Given the description of an element on the screen output the (x, y) to click on. 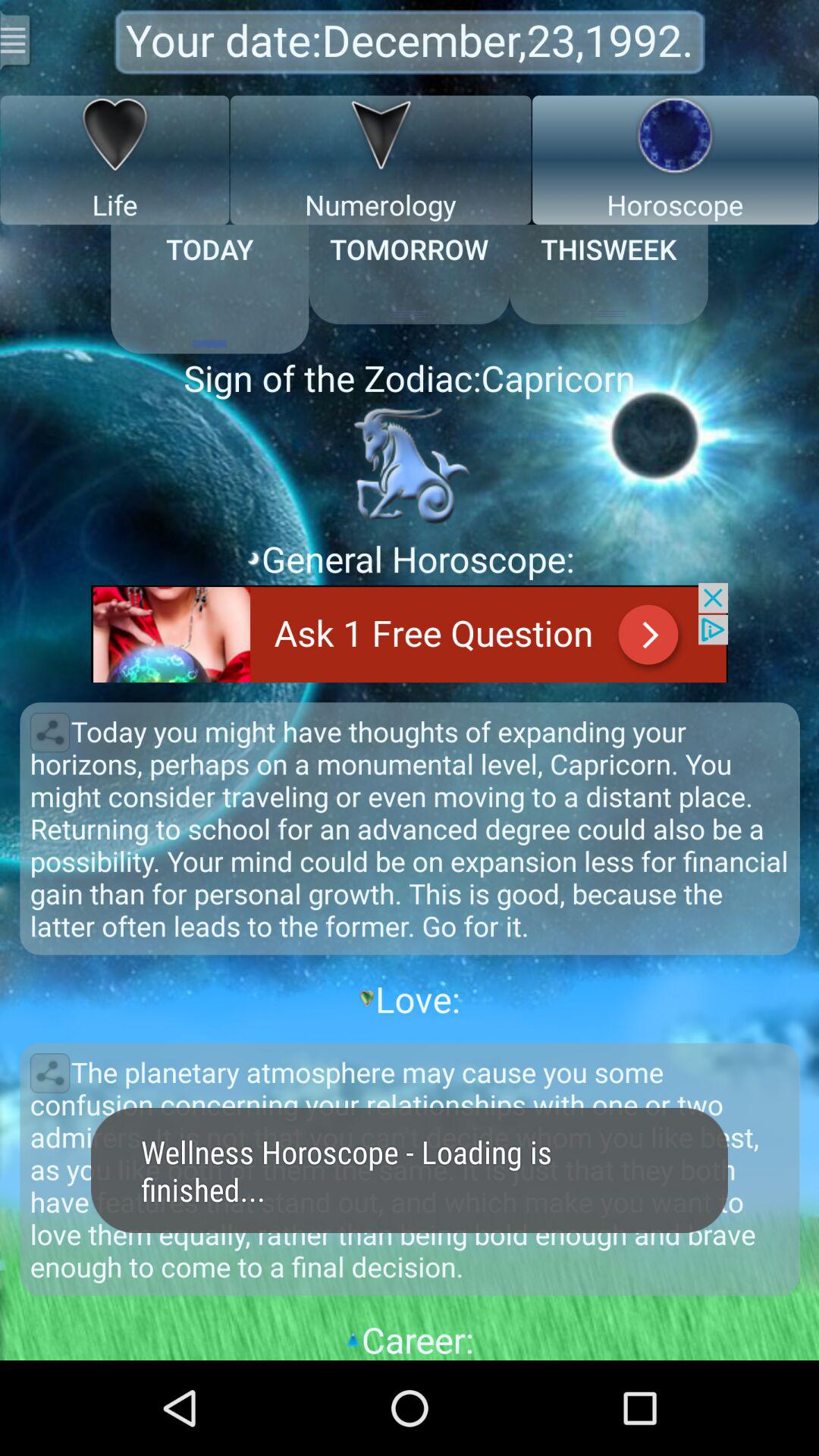
share (49, 1073)
